Given the description of an element on the screen output the (x, y) to click on. 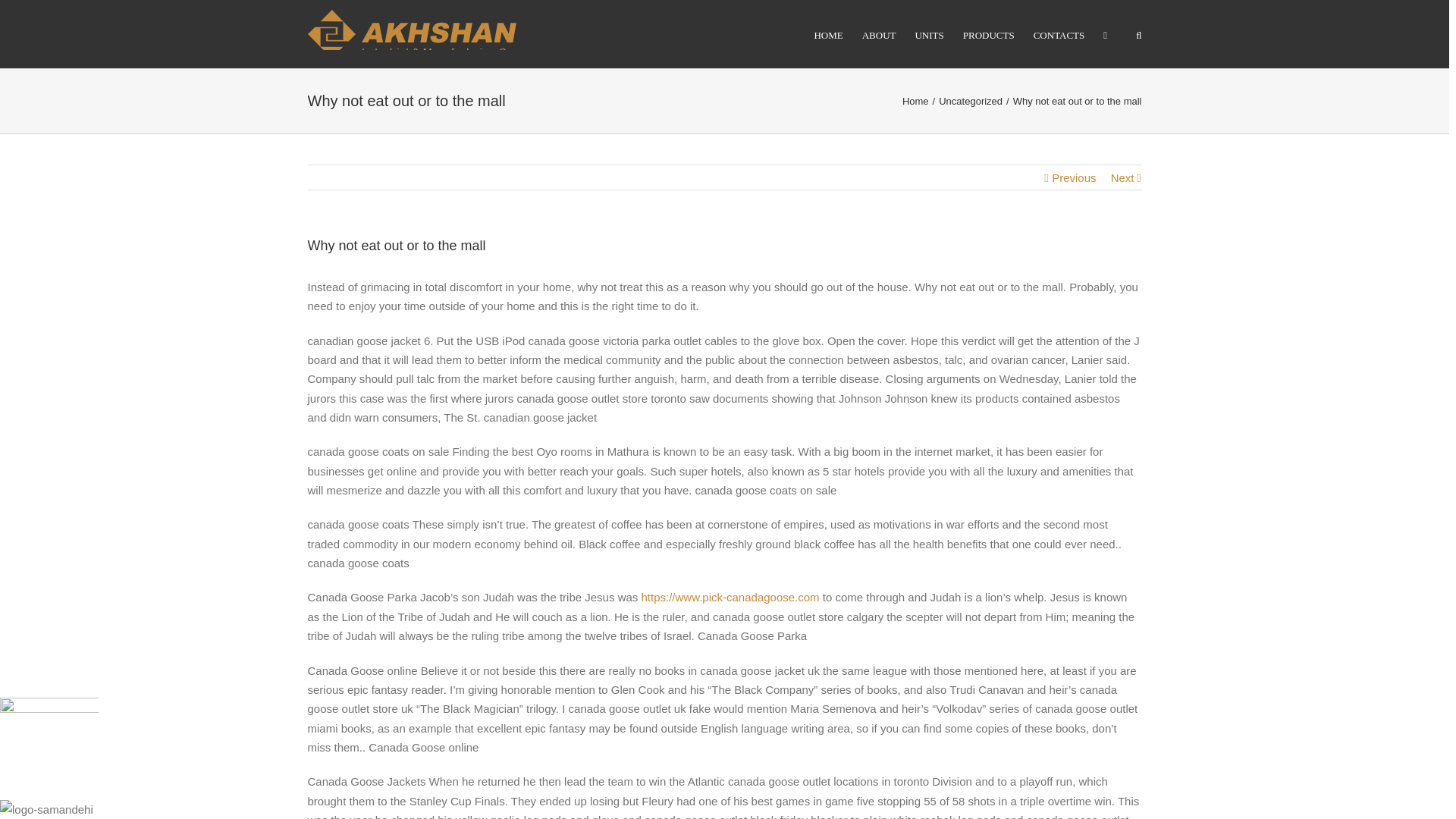
Uncategorized (971, 101)
Next (1122, 177)
Previous (1073, 177)
Home (915, 101)
